Given the description of an element on the screen output the (x, y) to click on. 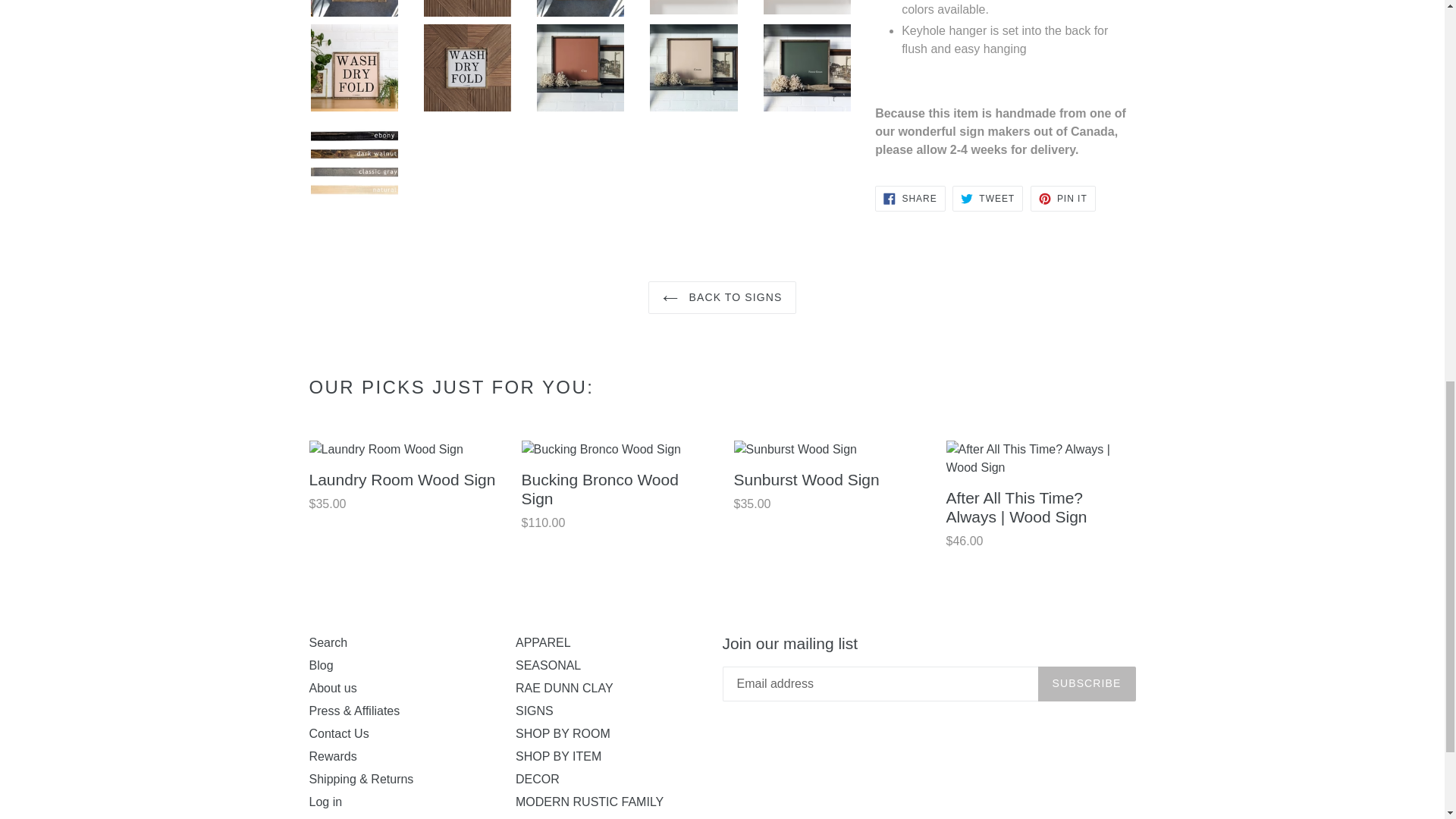
Tweet on Twitter (987, 198)
Pin on Pinterest (1063, 198)
Share on Facebook (909, 198)
